Given the description of an element on the screen output the (x, y) to click on. 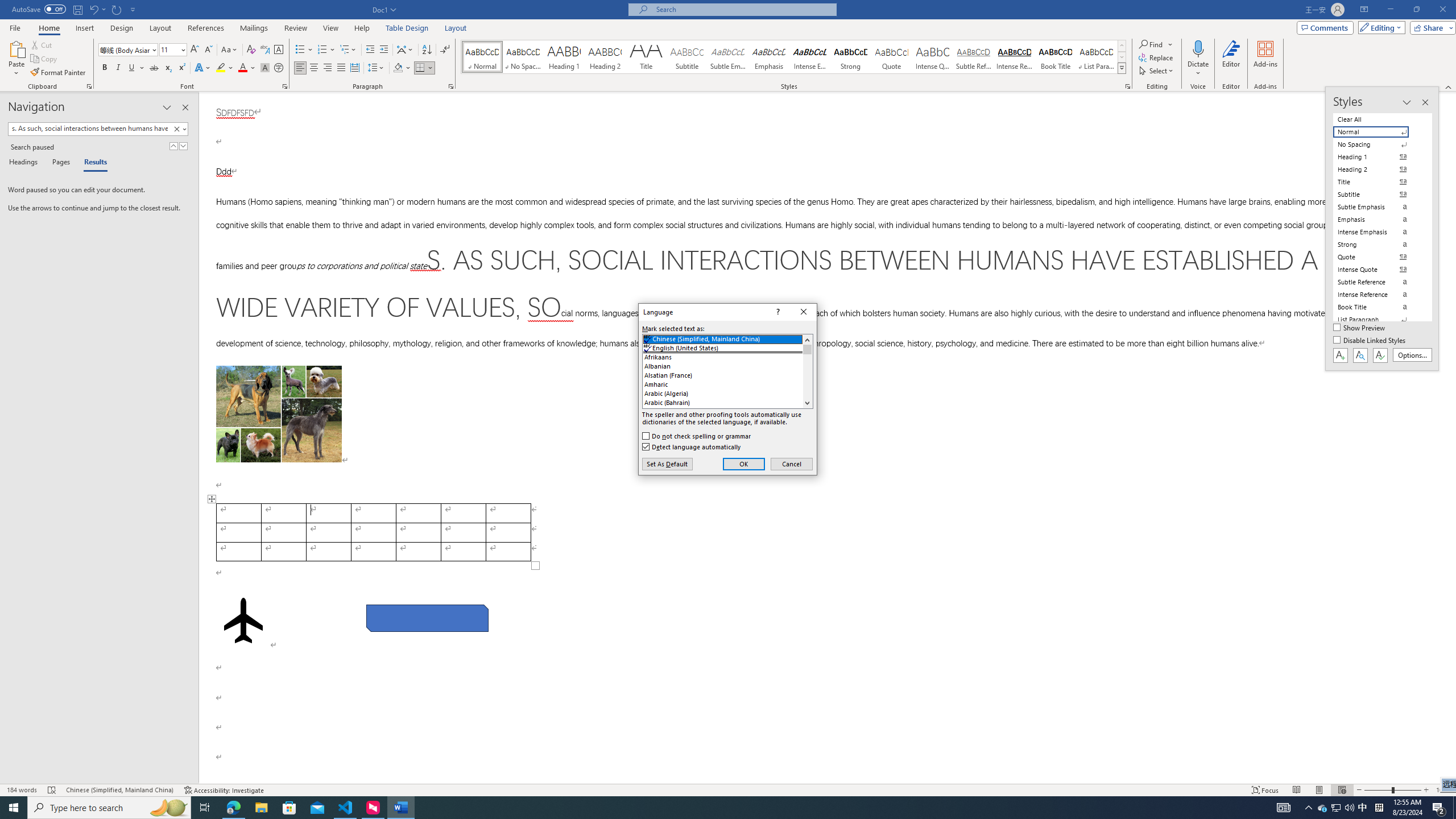
Show Preview (1360, 328)
Subtle Emphasis (727, 56)
Line up (807, 339)
